Given the description of an element on the screen output the (x, y) to click on. 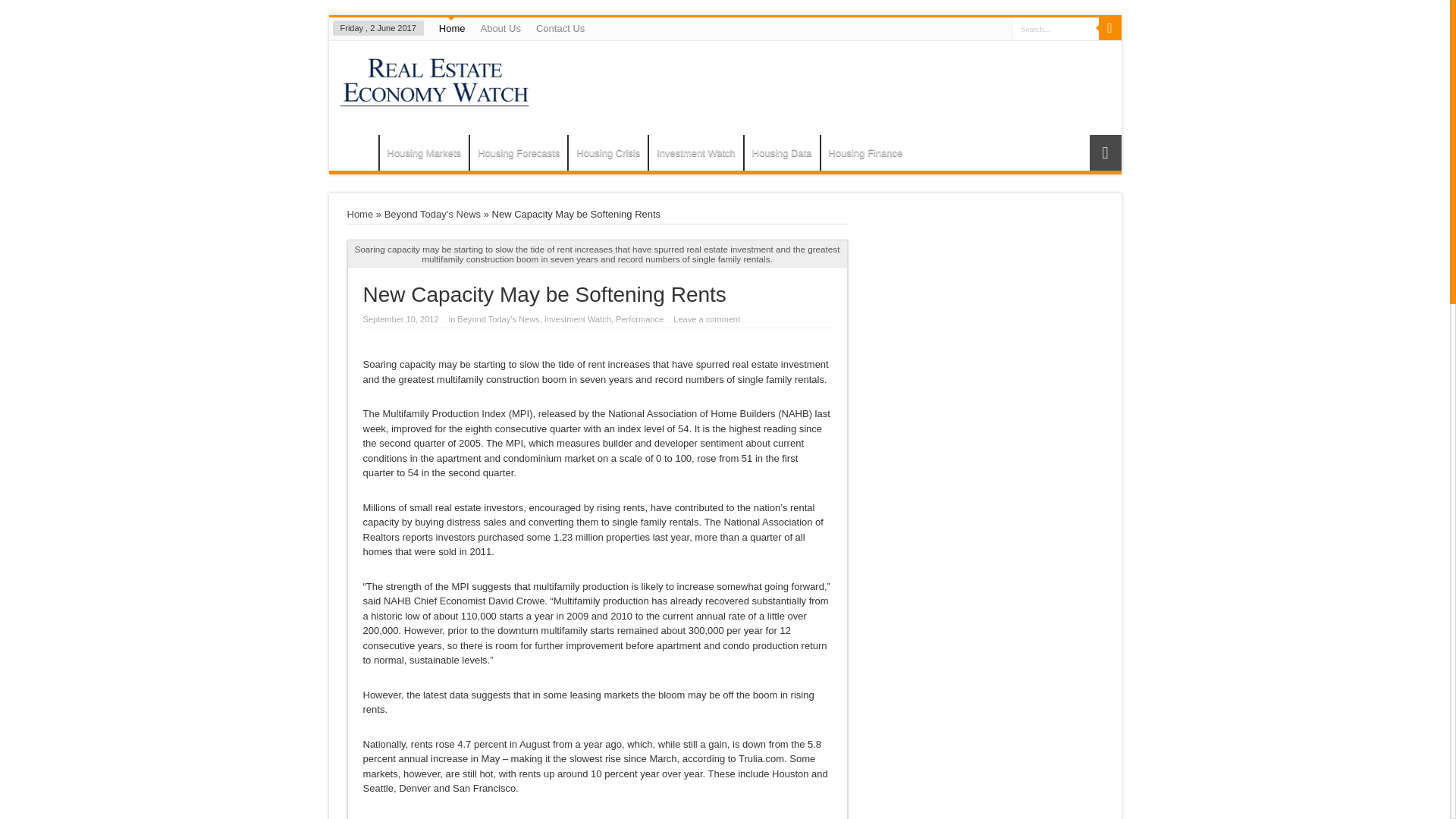
Home (357, 154)
Contact Us (560, 28)
View all posts in Beyond Today's News (432, 214)
Performance (639, 318)
About Us (499, 28)
Search (1109, 28)
Search... (1055, 28)
View all posts in Performance (639, 318)
Comment on New Capacity May be Softening Rents (705, 318)
Housing Finance (866, 152)
